Given the description of an element on the screen output the (x, y) to click on. 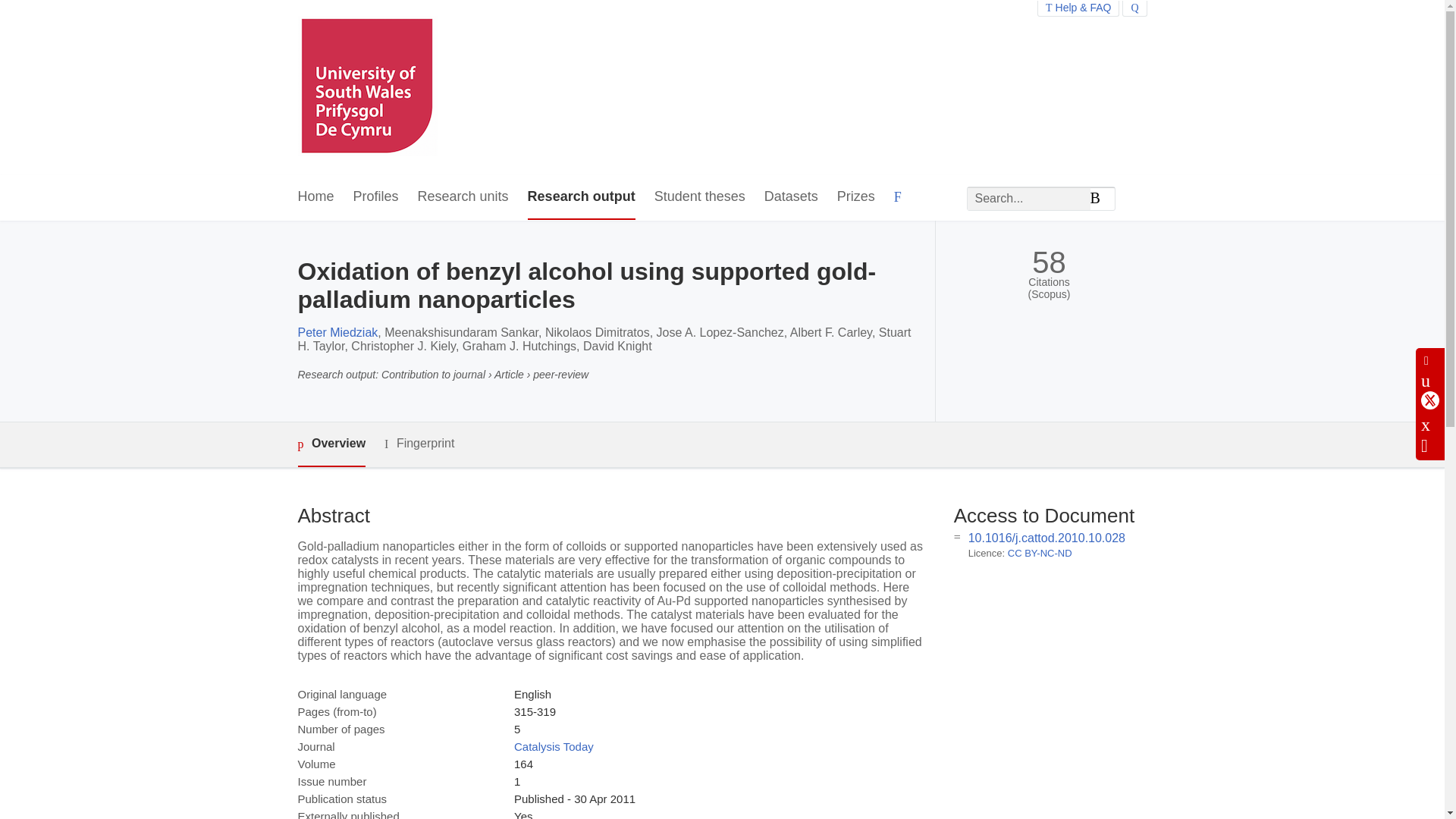
Student theses (699, 197)
Profiles (375, 197)
Overview (331, 444)
Catalysis Today (553, 746)
Research units (462, 197)
Datasets (791, 197)
CC BY-NC-ND (1039, 552)
Research output (580, 197)
Peter Miedziak (337, 332)
Fingerprint (419, 444)
